Given the description of an element on the screen output the (x, y) to click on. 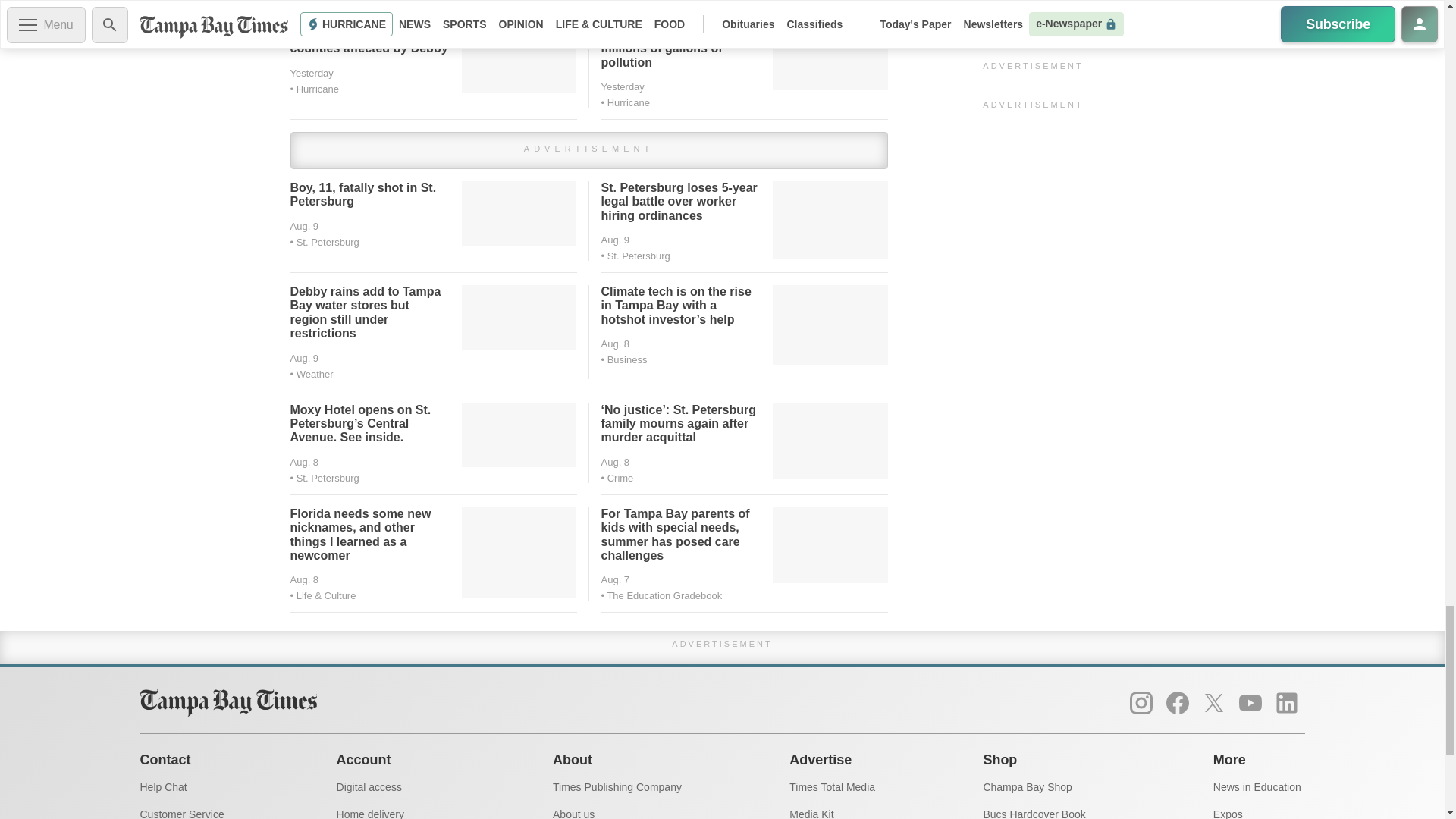
2024-08-08T09:30:00Z (613, 461)
2024-08-11T15:58:21.550Z (311, 72)
2024-08-08T17:17:25.405Z (613, 239)
2024-08-09T11:17:05.178Z (303, 225)
2024-08-10T10:00:00Z (621, 86)
2024-08-08T10:35:00Z (303, 461)
2024-08-08T13:33:15.680Z (613, 343)
2024-08-08T16:08:34.504Z (303, 357)
